Given the description of an element on the screen output the (x, y) to click on. 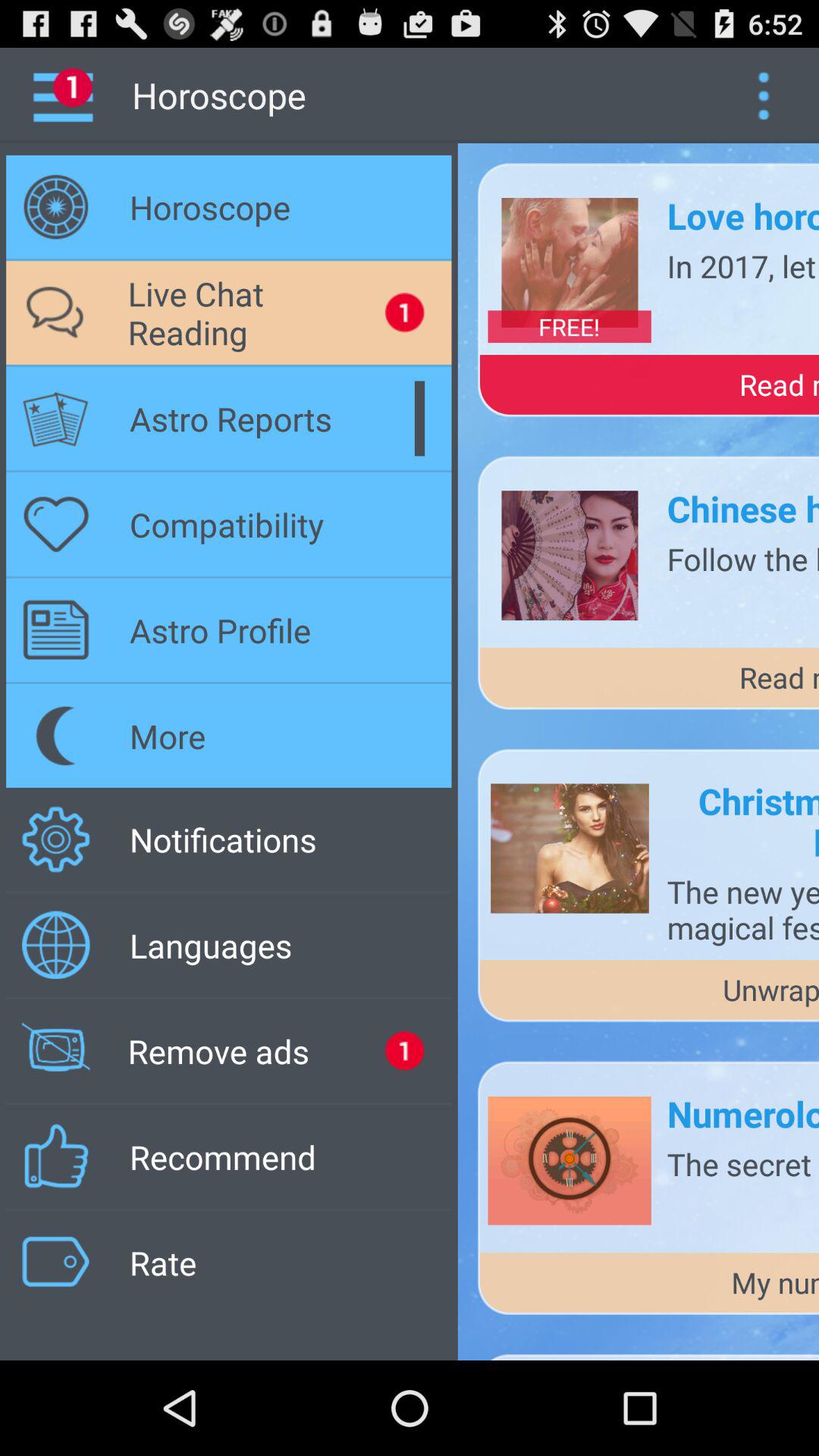
tap the item above the read my horoscope icon (743, 265)
